Given the description of an element on the screen output the (x, y) to click on. 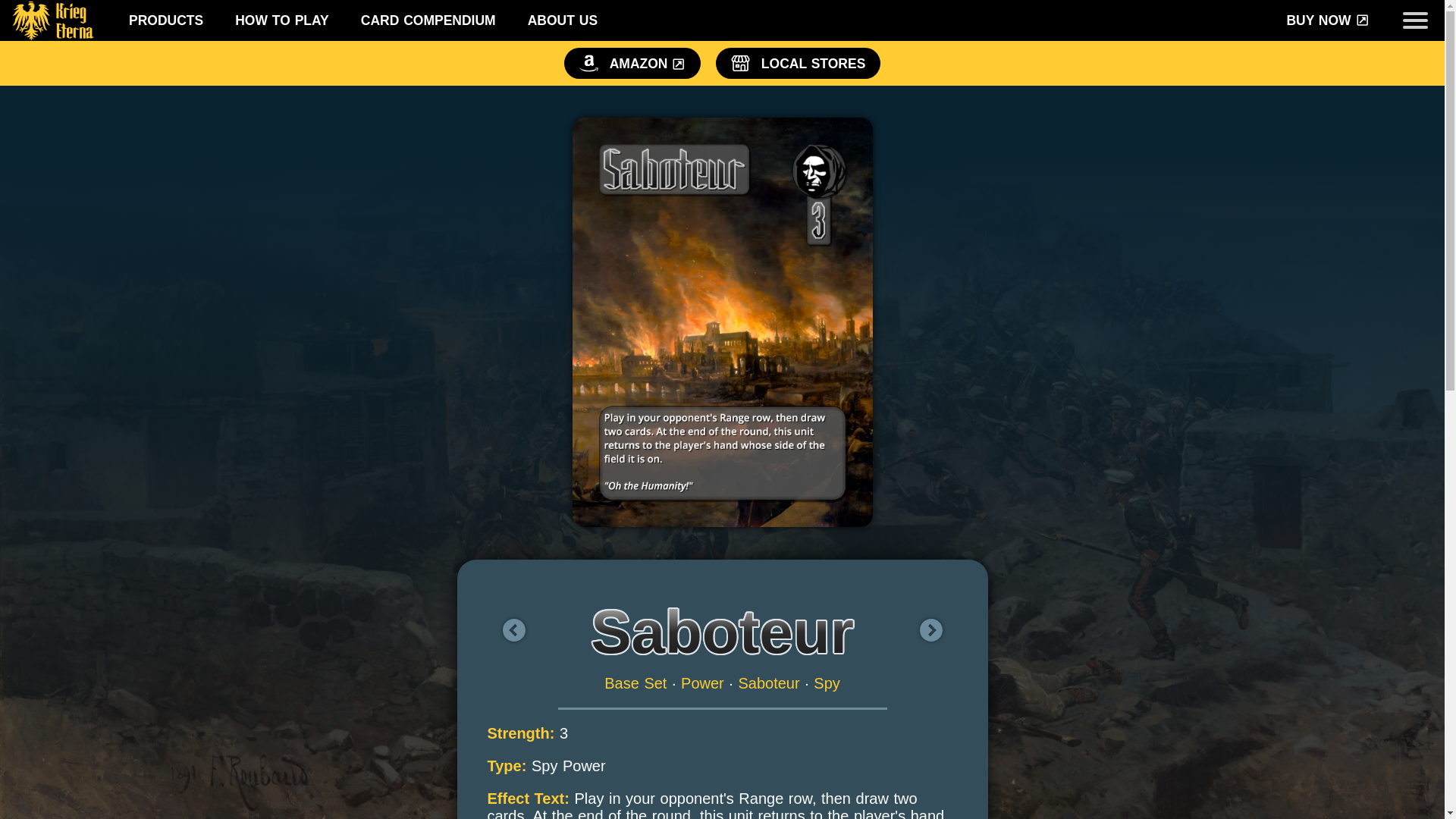
AMAZON  (632, 62)
Base Set (635, 682)
HOW TO PLAY (282, 20)
LOCAL STORES (798, 62)
CARD COMPENDIUM (428, 20)
Spy (826, 682)
ABOUT US (562, 20)
PRODUCTS (166, 20)
Saboteur (768, 682)
BUY NOW  (1326, 20)
